Given the description of an element on the screen output the (x, y) to click on. 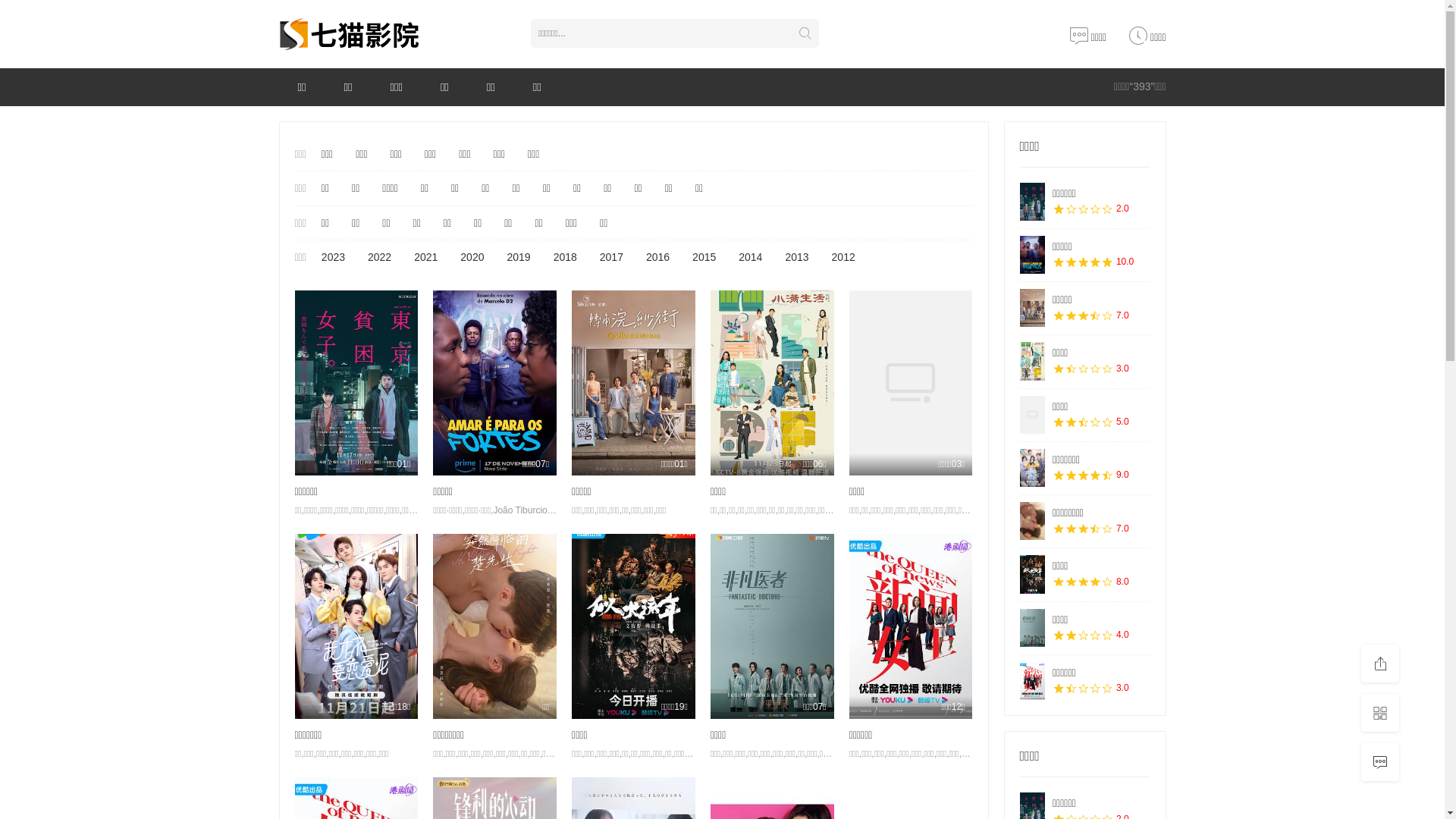
2019 Element type: text (517, 257)
2015 Element type: text (703, 257)
2022 Element type: text (379, 257)
2023 Element type: text (332, 257)
2021 Element type: text (425, 257)
2012 Element type: text (843, 257)
2014 Element type: text (750, 257)
2020 Element type: text (471, 257)
2018 Element type: text (565, 257)
2013 Element type: text (796, 257)
2016 Element type: text (657, 257)
2017 Element type: text (611, 257)
